Given the description of an element on the screen output the (x, y) to click on. 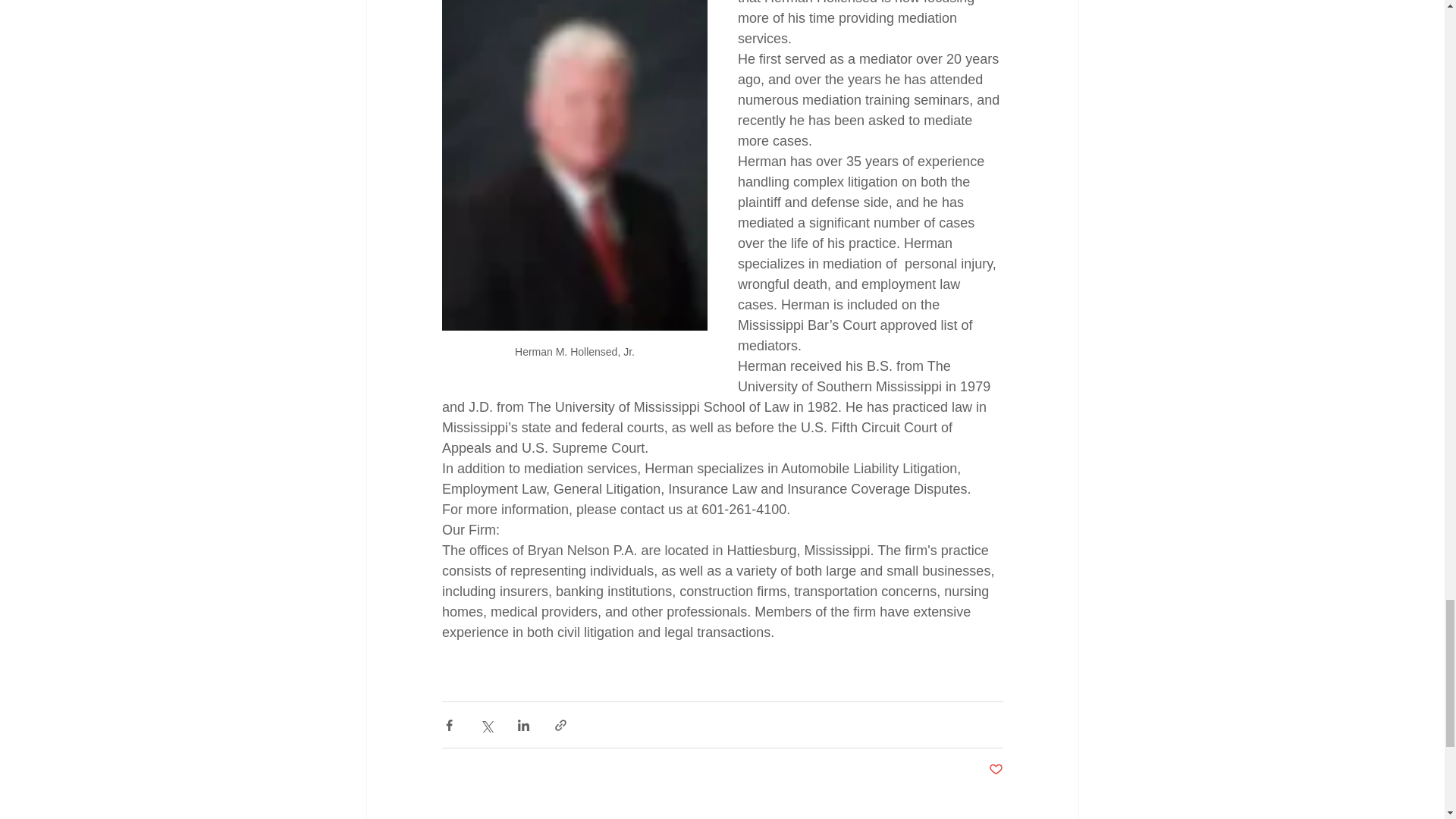
Post not marked as liked (995, 770)
